Given the description of an element on the screen output the (x, y) to click on. 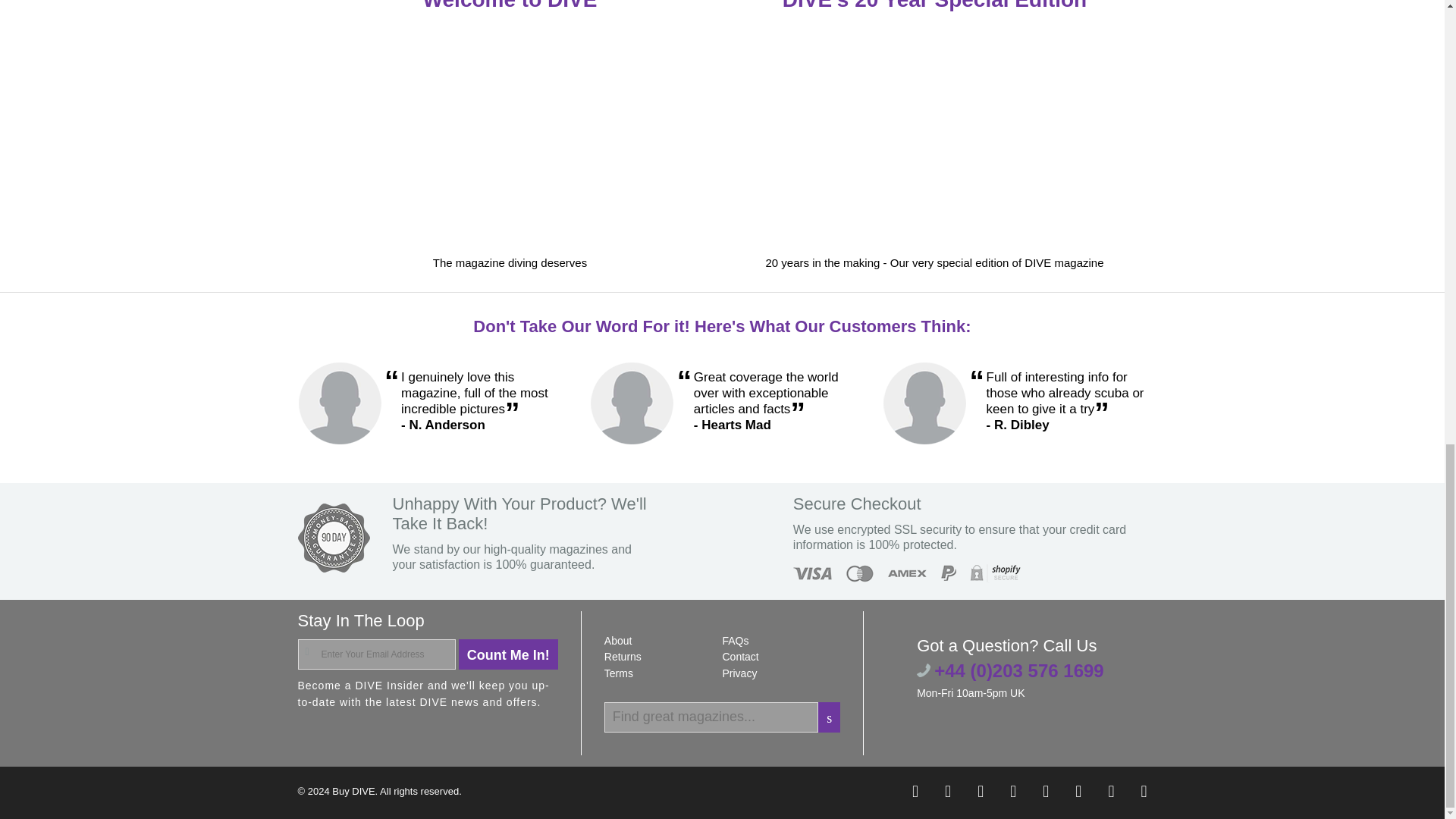
YouTube video player (509, 135)
Hearts Mad (630, 403)
Count Me In! (507, 654)
R. Dibley (924, 403)
About (617, 640)
Count Me In! (507, 654)
N. Anderson (338, 403)
